Given the description of an element on the screen output the (x, y) to click on. 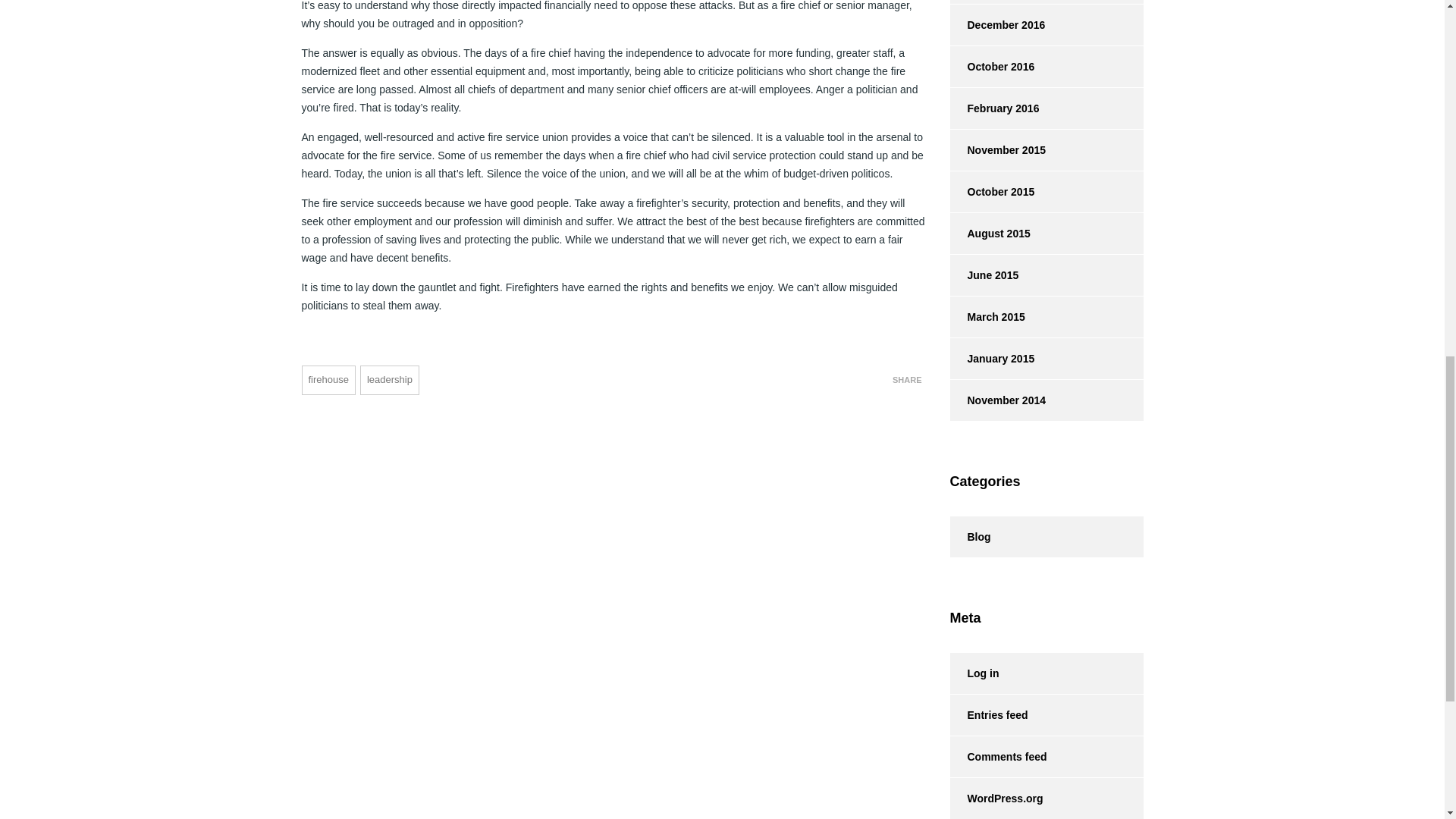
leadership (389, 379)
firehouse (328, 379)
February 2016 (994, 107)
October 2016 (991, 65)
November 2015 (997, 149)
December 2016 (997, 24)
June 2015 (983, 274)
August 2015 (989, 232)
October 2015 (991, 191)
February 2017 (994, 2)
